Given the description of an element on the screen output the (x, y) to click on. 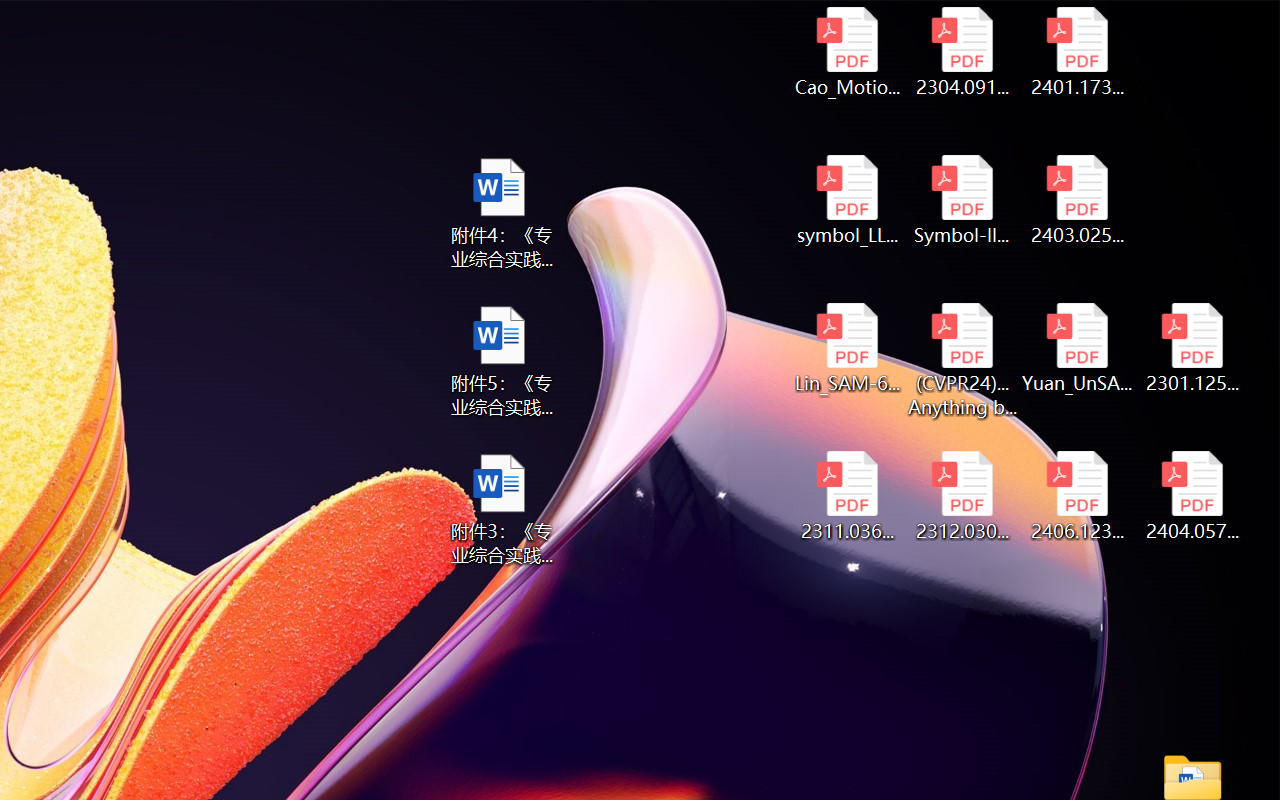
2301.12597v3.pdf (1192, 348)
2312.03032v2.pdf (962, 496)
2406.12373v2.pdf (1077, 496)
2403.02502v1.pdf (1077, 200)
symbol_LLM.pdf (846, 200)
2304.09121v3.pdf (962, 52)
(CVPR24)Matching Anything by Segmenting Anything.pdf (962, 360)
2311.03658v2.pdf (846, 496)
Symbol-llm-v2.pdf (962, 200)
2404.05719v1.pdf (1192, 496)
